Given the description of an element on the screen output the (x, y) to click on. 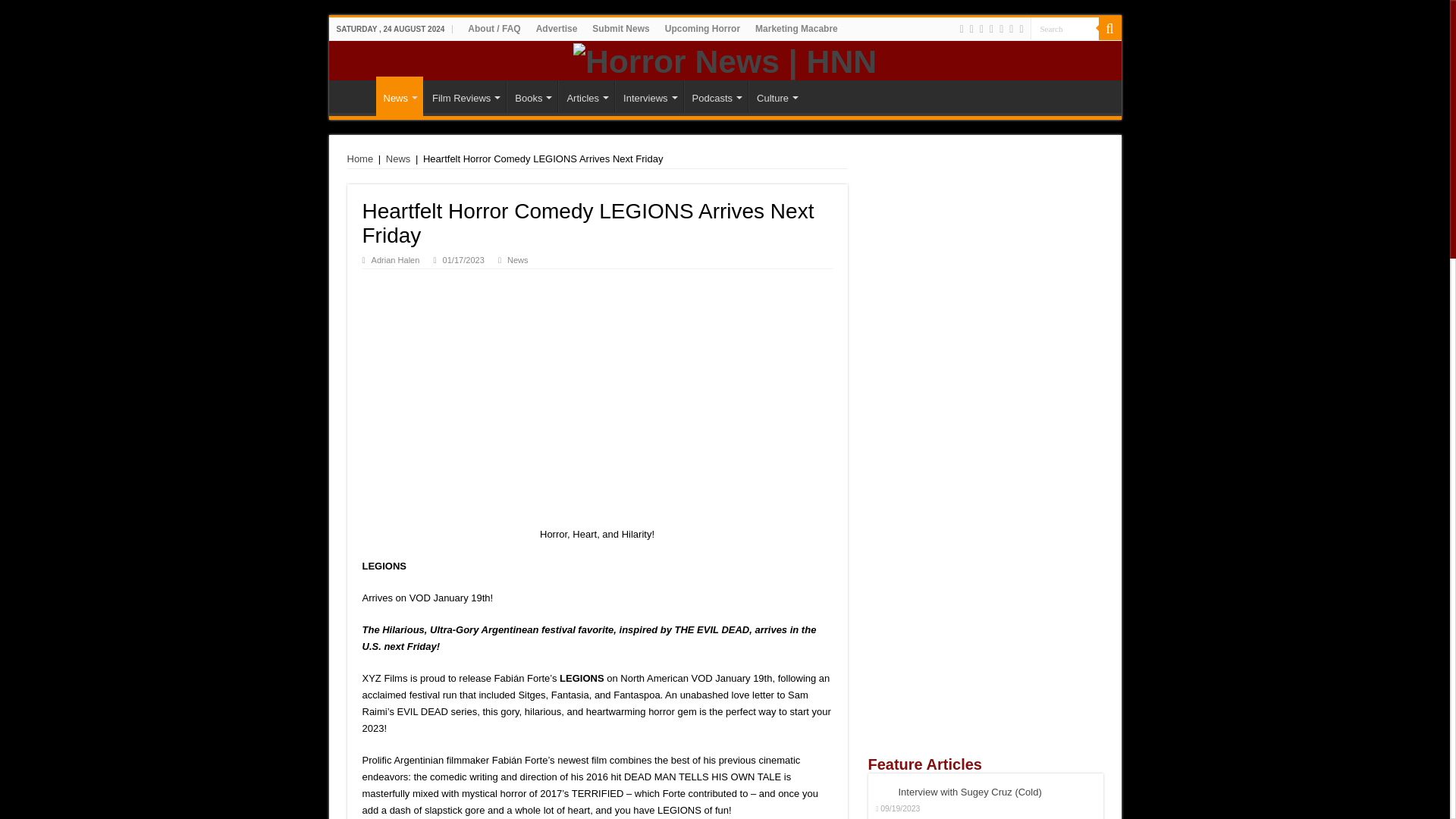
Advertise (556, 28)
Search (1063, 28)
HOME (355, 96)
Submit News (620, 28)
Search (1063, 28)
Search (1109, 28)
News (399, 96)
Upcoming Horror (703, 28)
Advertise on HorrorNews.net (556, 28)
Film Reviews (464, 96)
